Given the description of an element on the screen output the (x, y) to click on. 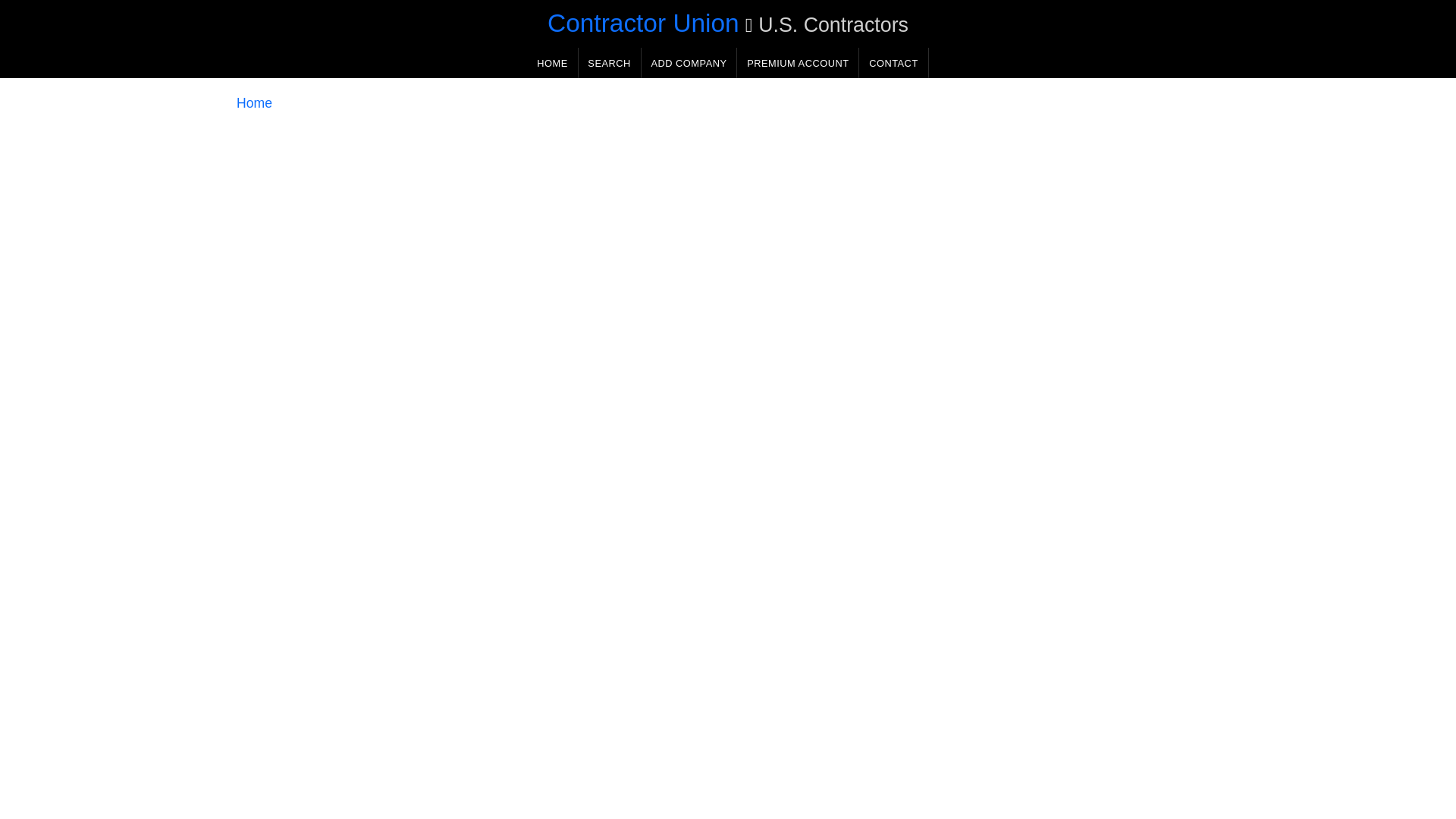
Premium account (792, 64)
Search in this webseite. (603, 64)
Home (248, 104)
PREMIUM ACCOUNT (792, 64)
SEARCH (603, 64)
ADD COMPANY (682, 64)
Add a new company (682, 64)
CONTACT (887, 64)
Contractor Union (637, 22)
HOME (546, 64)
